Given the description of an element on the screen output the (x, y) to click on. 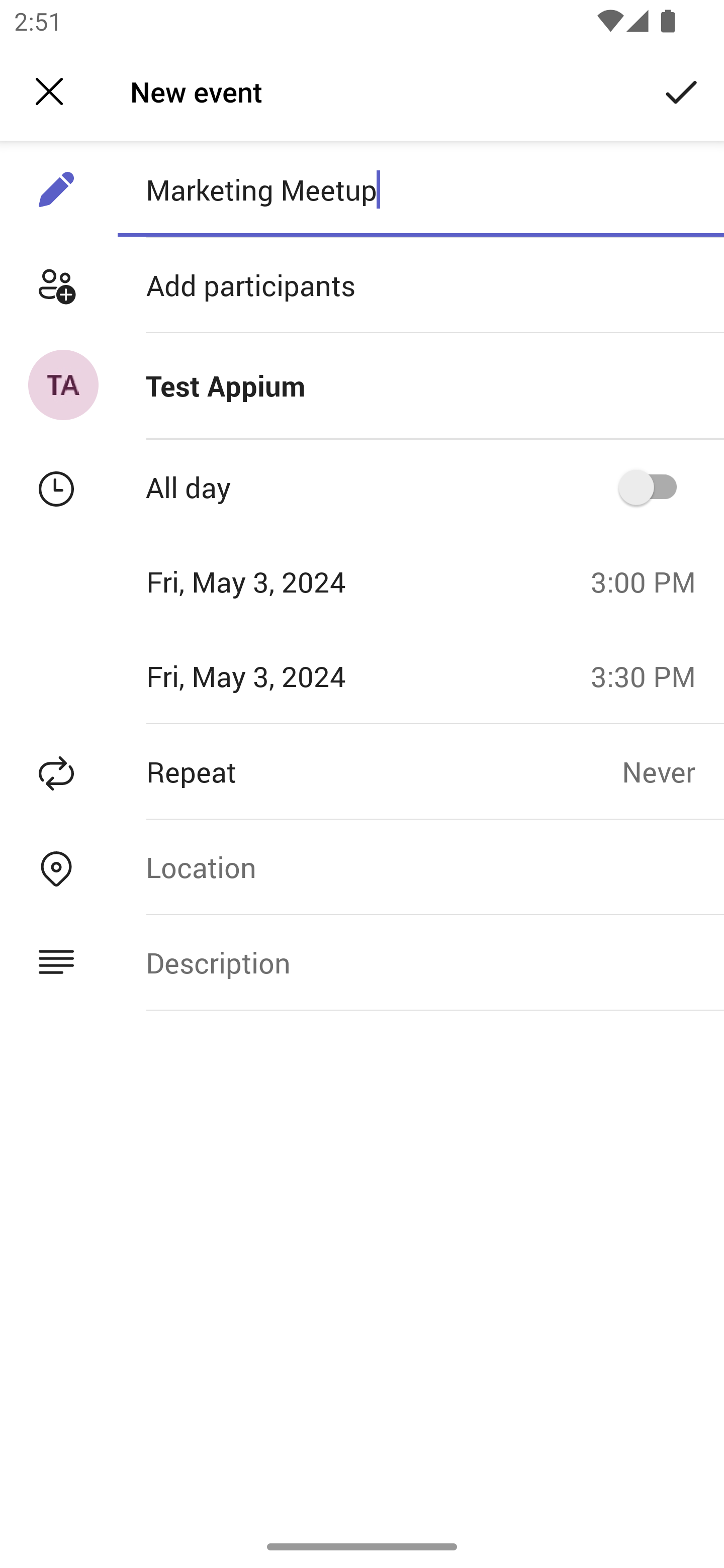
Back (49, 91)
Send invite (681, 90)
Marketing Meetup (420, 189)
Add participants Add participants option (362, 285)
All day (654, 486)
Fri, May 3, 2024 Starts Friday May 03, 2024 (288, 581)
3:00 PM Start time 3:00 PM (650, 581)
Fri, May 3, 2024 Ends Friday May 03, 2024 (288, 675)
3:30 PM End time 3:30 PM (650, 675)
Repeat (310, 771)
Never Repeat Never (672, 771)
Location (420, 867)
Description (420, 962)
